Given the description of an element on the screen output the (x, y) to click on. 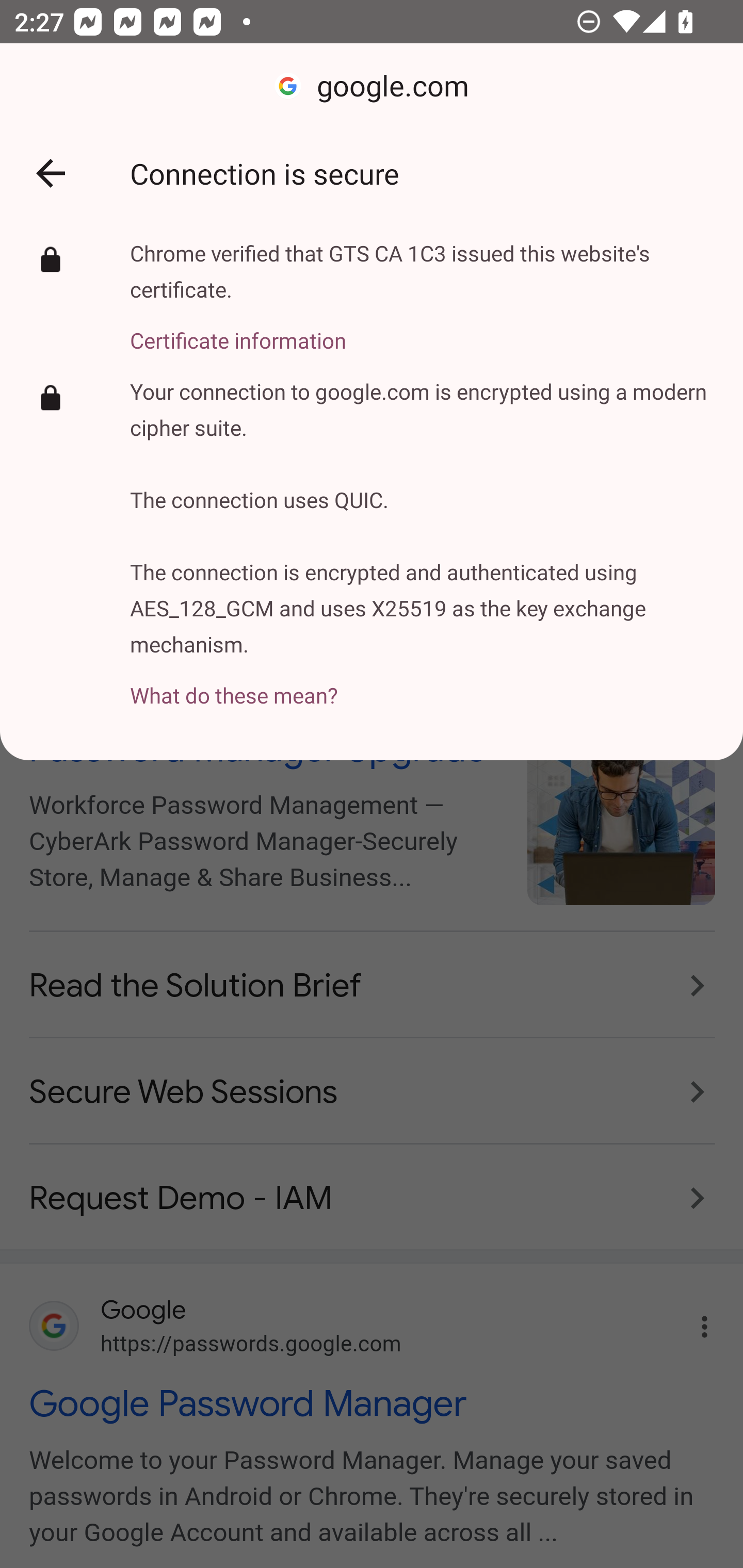
google.com (371, 86)
Back (50, 173)
What do these mean? (422, 684)
